Given the description of an element on the screen output the (x, y) to click on. 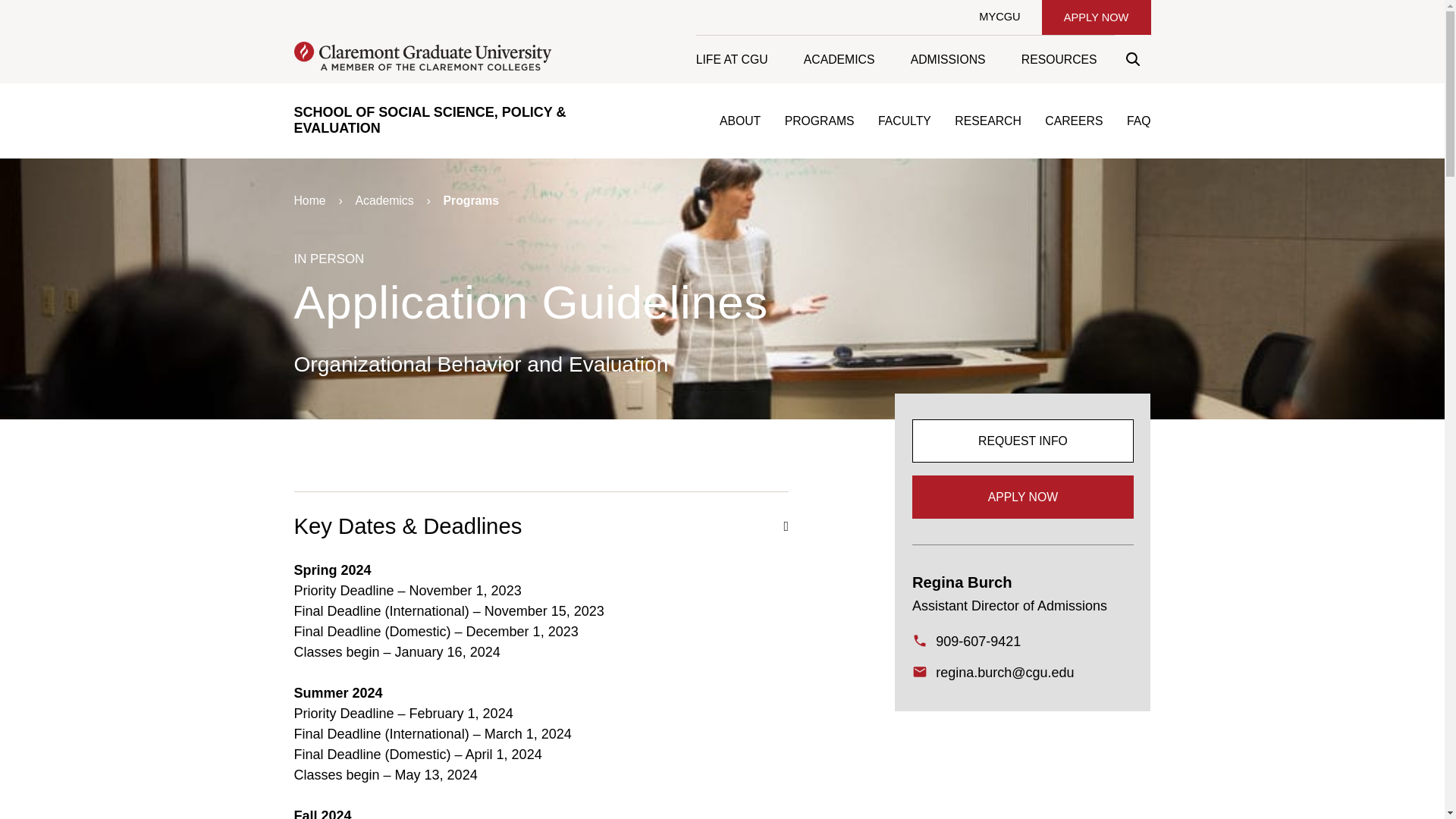
ACADEMICS (839, 59)
LIFE AT CGU (740, 59)
open search field (1132, 58)
ADMISSIONS (947, 59)
MYCGU (1000, 16)
APPLY NOW (1096, 17)
